Given the description of an element on the screen output the (x, y) to click on. 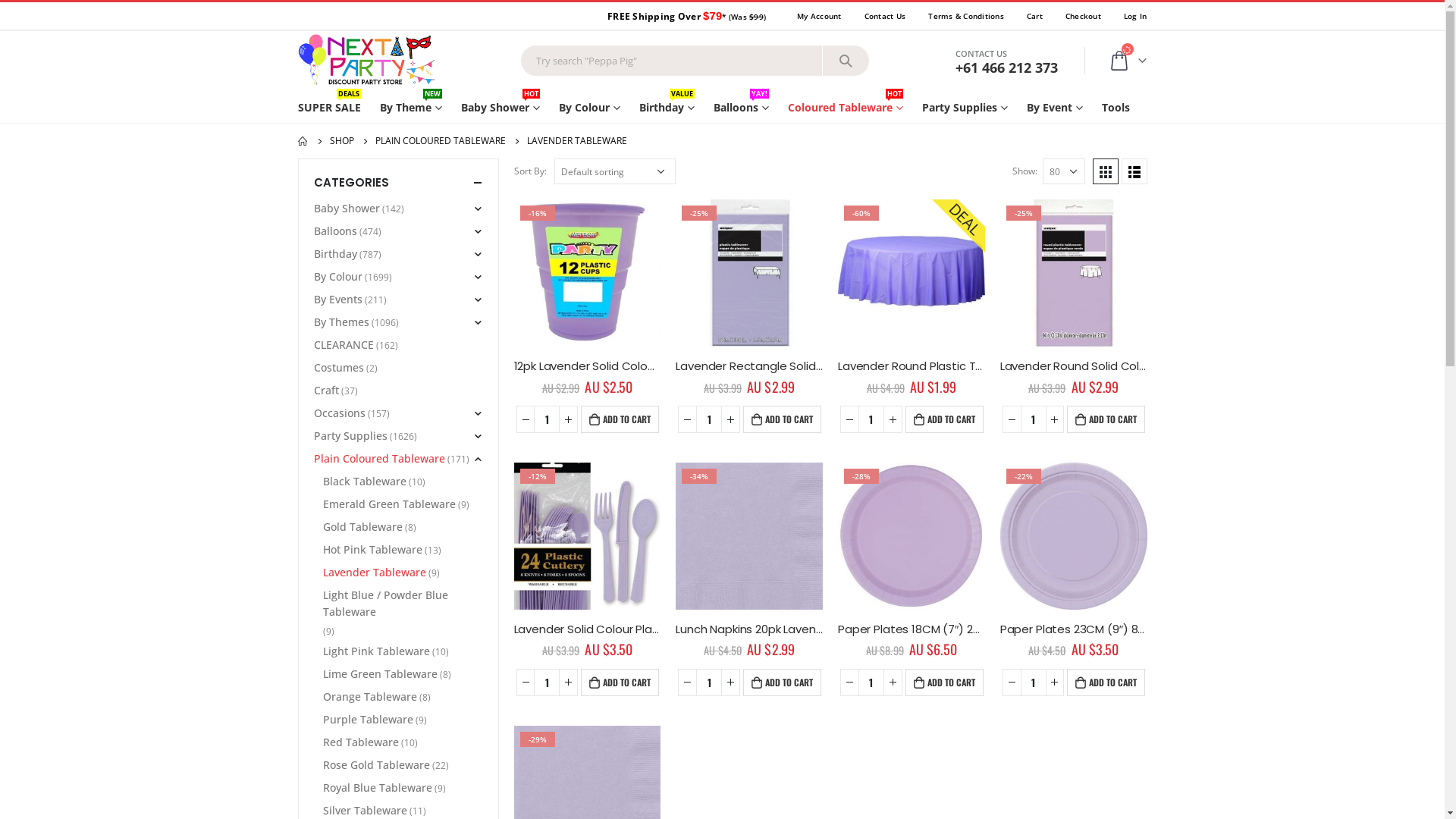
- Element type: text (686, 682)
ADD TO CART Element type: text (782, 682)
By Events Element type: text (337, 299)
Log In Element type: text (1129, 15)
Coloured Tableware
HOT Element type: text (844, 107)
SHOP Element type: text (341, 140)
- Element type: text (525, 682)
Checkout Element type: text (1083, 15)
Light Pink Tableware Element type: text (376, 651)
By Event Element type: text (1054, 107)
ADD TO CART Element type: text (944, 419)
Lavender Tableware Element type: text (374, 572)
Costumes Element type: text (338, 367)
Orange Tableware Element type: text (370, 696)
Royal Blue Tableware Element type: text (377, 787)
ADD TO CART Element type: text (1105, 682)
+ Element type: text (892, 682)
By Theme
NEW Element type: text (410, 107)
-28% Element type: text (911, 535)
Lavender Solid Colour Plastic Assorted Cutlery 24pk 31364 Element type: text (587, 629)
Emerald Green Tableware Element type: text (389, 503)
Red Tableware Element type: text (360, 742)
Craft Element type: text (325, 390)
Birthday
VALUE Element type: text (665, 107)
ADD TO CART Element type: text (1105, 419)
- Element type: text (686, 419)
Plain Coloured Tableware Element type: text (379, 458)
+ Element type: text (892, 419)
My Account Element type: text (819, 15)
Birthday Element type: text (335, 253)
-22% Element type: text (1073, 535)
Cart Element type: text (1034, 15)
PLAIN COLOURED TABLEWARE Element type: text (439, 140)
- Element type: text (1011, 682)
Go to Home Page Element type: hover (302, 140)
Balloons Element type: text (335, 230)
List View Element type: hover (1133, 171)
Gold Tableware Element type: text (362, 526)
- Element type: text (1011, 419)
-60%
DEAL Element type: text (911, 272)
Baby Shower
HOT Element type: text (500, 107)
+ Element type: text (567, 682)
-25% Element type: text (1073, 272)
Party Supplies Element type: text (964, 107)
+ Element type: text (1054, 682)
-12% Element type: text (587, 535)
Tools Element type: text (1115, 107)
-16% Element type: text (587, 272)
+ Element type: text (1054, 419)
By Colour Element type: text (588, 107)
Balloons
YAY! Element type: text (740, 107)
+ Element type: text (567, 419)
Light Blue / Powder Blue Tableware Element type: text (402, 603)
ADD TO CART Element type: text (619, 419)
-34% Element type: text (748, 535)
Party Supplies Element type: text (350, 435)
+ Element type: text (730, 682)
By Themes Element type: text (341, 321)
CLEARANCE Element type: text (343, 344)
Rose Gold Tableware Element type: text (376, 764)
Baby Shower Element type: text (346, 208)
ADD TO CART Element type: text (944, 682)
By Colour Element type: text (337, 276)
SUPER SALE
DEALS Element type: text (333, 107)
-25% Element type: text (748, 272)
ADD TO CART Element type: text (619, 682)
Lime Green Tableware Element type: text (380, 673)
+ Element type: text (730, 419)
Purple Tableware Element type: text (368, 719)
Contact Us Element type: text (885, 15)
Terms & Conditions Element type: text (965, 15)
- Element type: text (525, 419)
Grid View Element type: hover (1104, 171)
Occasions Element type: text (339, 412)
Search Element type: hover (845, 60)
Black Tableware Element type: text (364, 481)
- Element type: text (849, 682)
ADD TO CART Element type: text (782, 419)
Hot Pink Tableware Element type: text (372, 549)
12pk Lavender Solid Colour Plastic Cups 34349 Element type: text (587, 365)
Lavender Round Plastic Table Cover Tablecloth 77018.04 Element type: text (911, 365)
- Element type: text (849, 419)
